Given the description of an element on the screen output the (x, y) to click on. 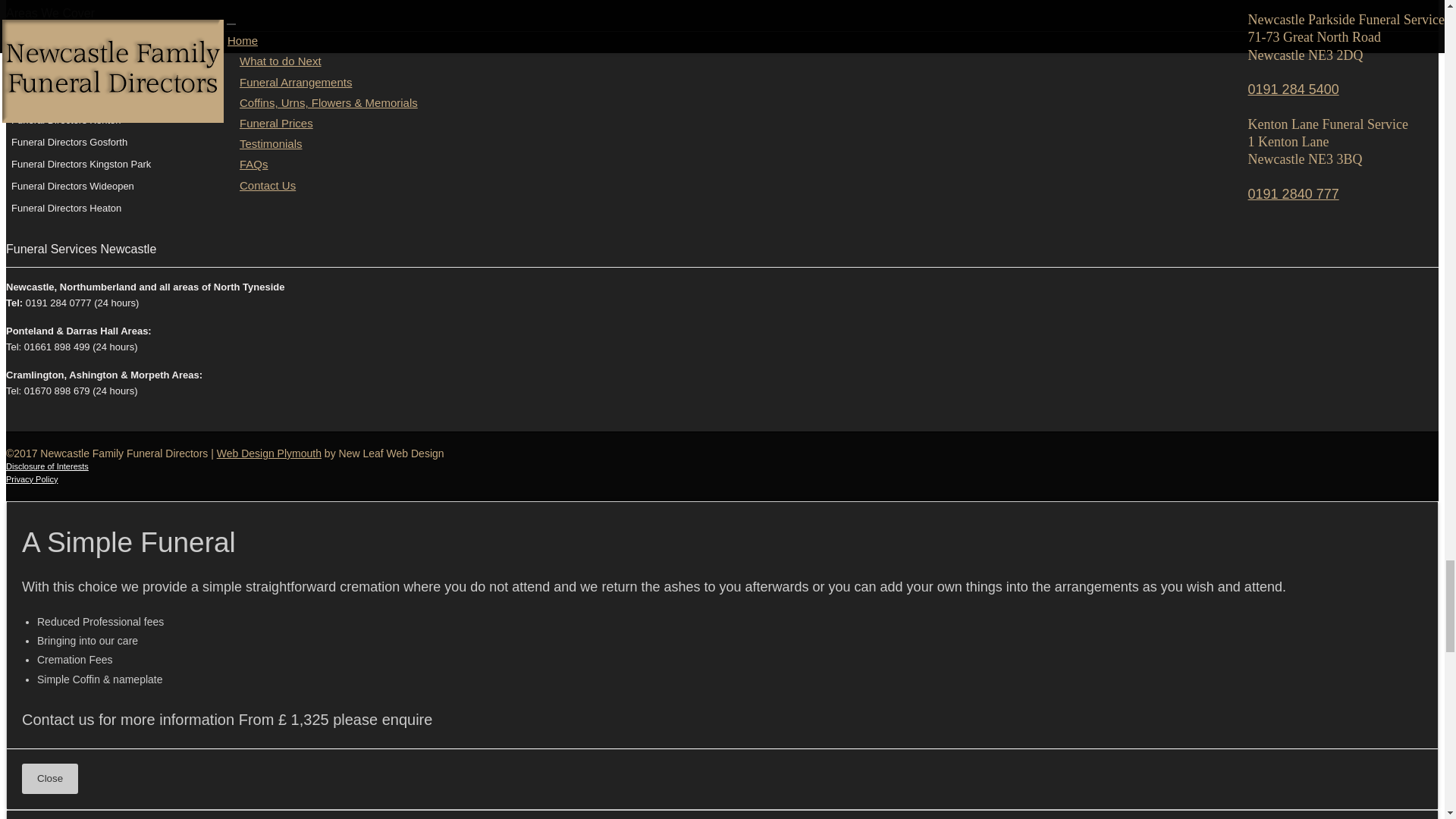
Close (49, 778)
Disclosure of Interests (46, 465)
Privacy Policy (31, 479)
Web Design Plymouth (268, 453)
